Given the description of an element on the screen output the (x, y) to click on. 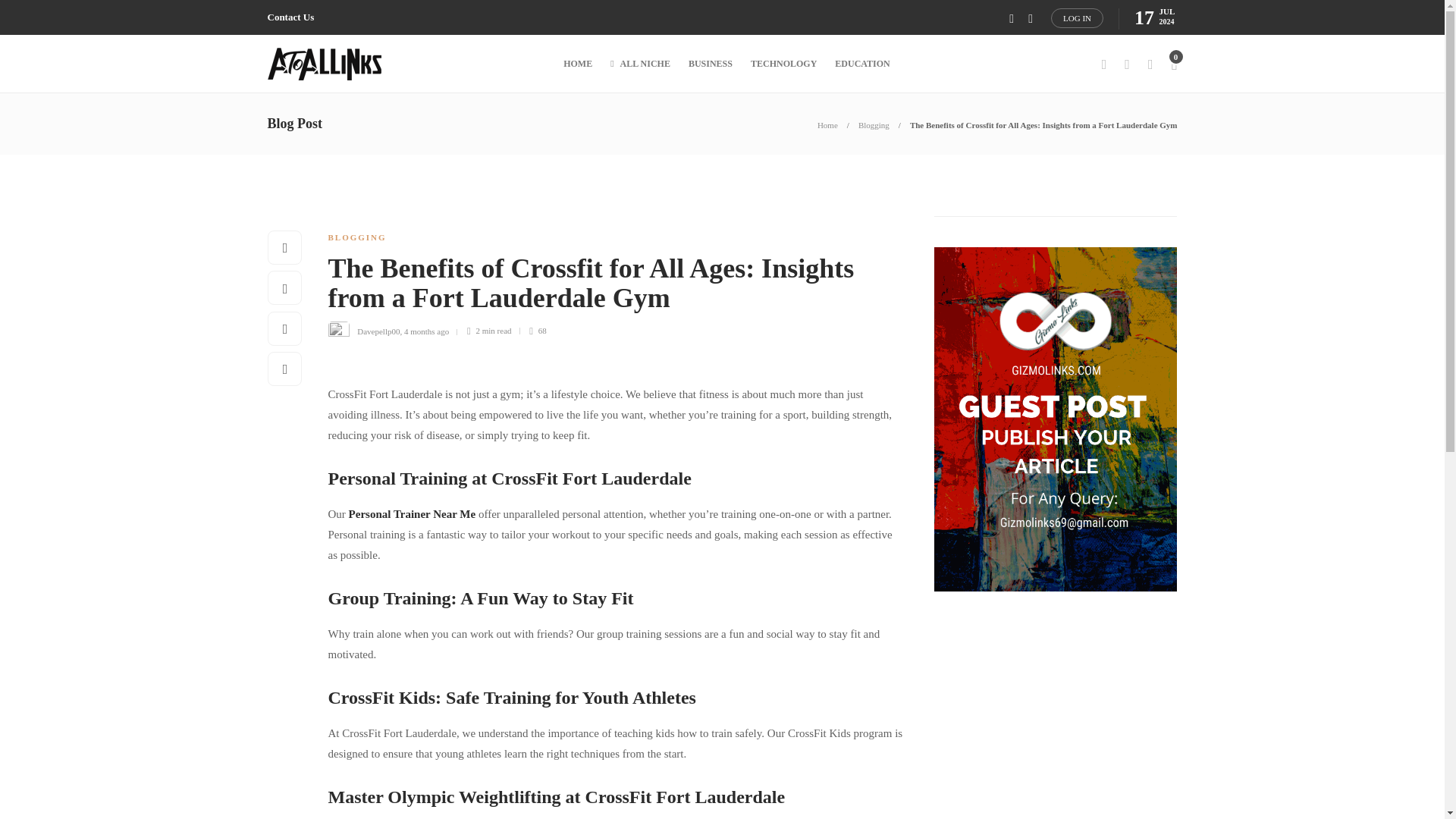
LOG IN (1077, 17)
TECHNOLOGY (783, 63)
EDUCATION (861, 63)
Home (827, 124)
Davepellp00 (377, 329)
Contact Us (290, 17)
Home (827, 124)
BLOGGING (356, 236)
ALL NICHE (639, 63)
4 months ago (426, 329)
Blogging (874, 124)
